Given the description of an element on the screen output the (x, y) to click on. 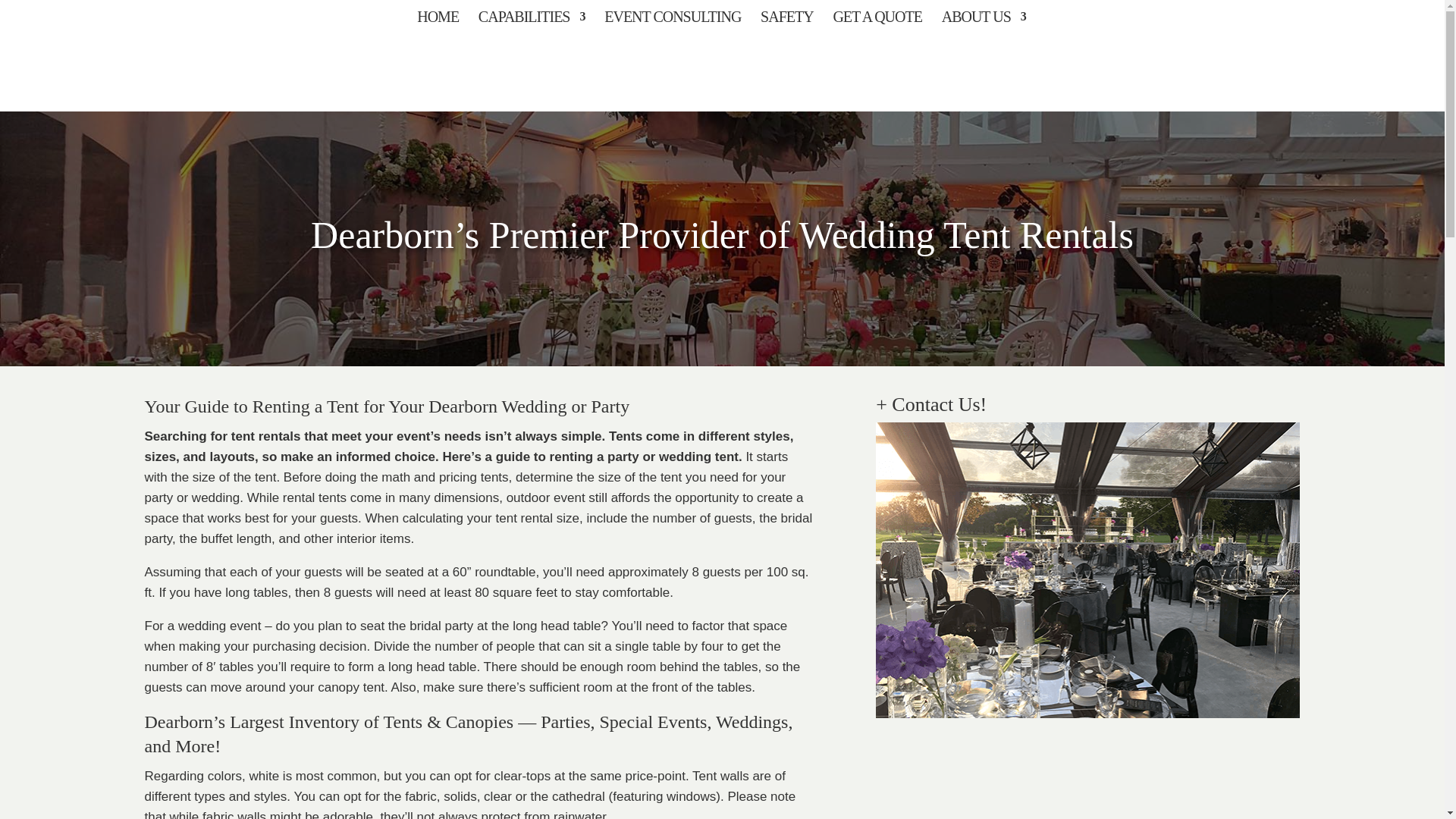
SAFETY (786, 21)
ABOUT US (984, 21)
GET A QUOTE (876, 21)
CAPABILITIES (532, 21)
EVENT CONSULTING (672, 21)
HOME (437, 21)
